Given the description of an element on the screen output the (x, y) to click on. 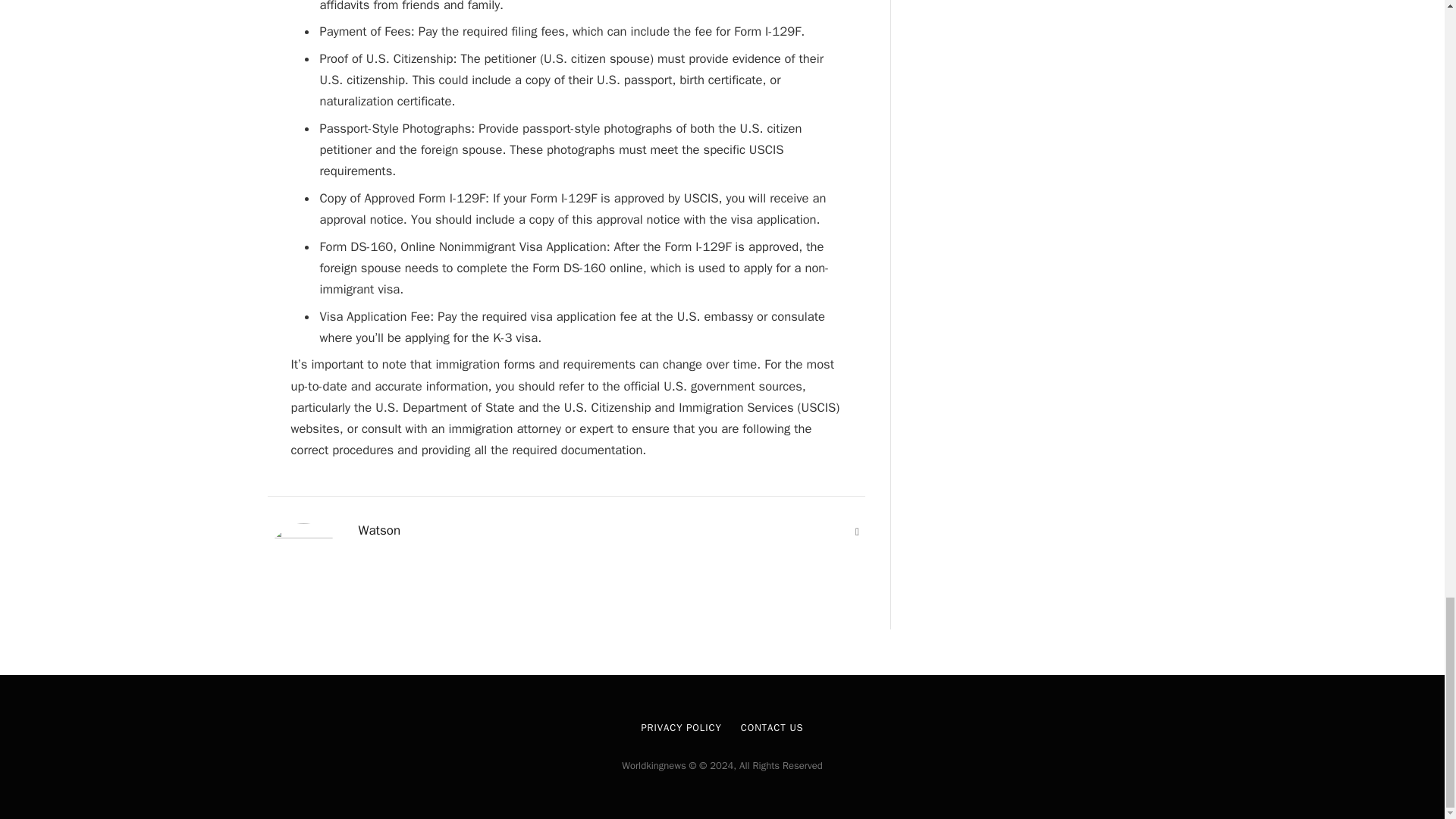
Website (856, 531)
Watson (379, 530)
Website (856, 531)
Posts by Watson (379, 530)
